Given the description of an element on the screen output the (x, y) to click on. 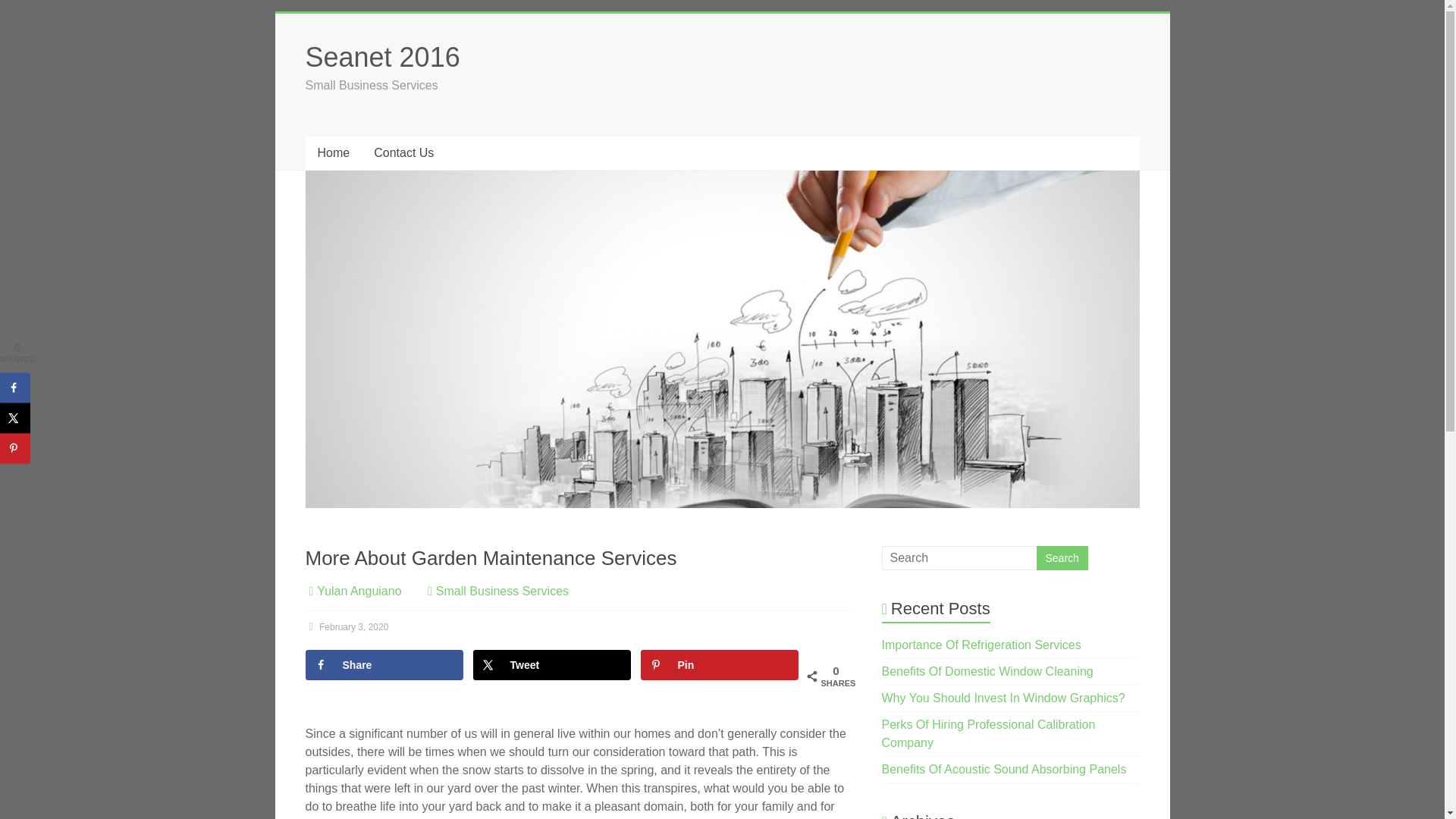
Tweet (551, 665)
Why You Should Invest In Window Graphics? (1003, 697)
Yulan Anguiano (359, 590)
Share (383, 665)
Share on X (15, 417)
Seanet 2016 (382, 56)
February 3, 2020 (346, 626)
Small Business Services (502, 590)
Save to Pinterest (15, 448)
Search (1061, 558)
Yulan Anguiano (359, 590)
Save to Pinterest (718, 665)
11:54 pm (346, 626)
Home (332, 152)
Importance Of Refrigeration Services (981, 644)
